Given the description of an element on the screen output the (x, y) to click on. 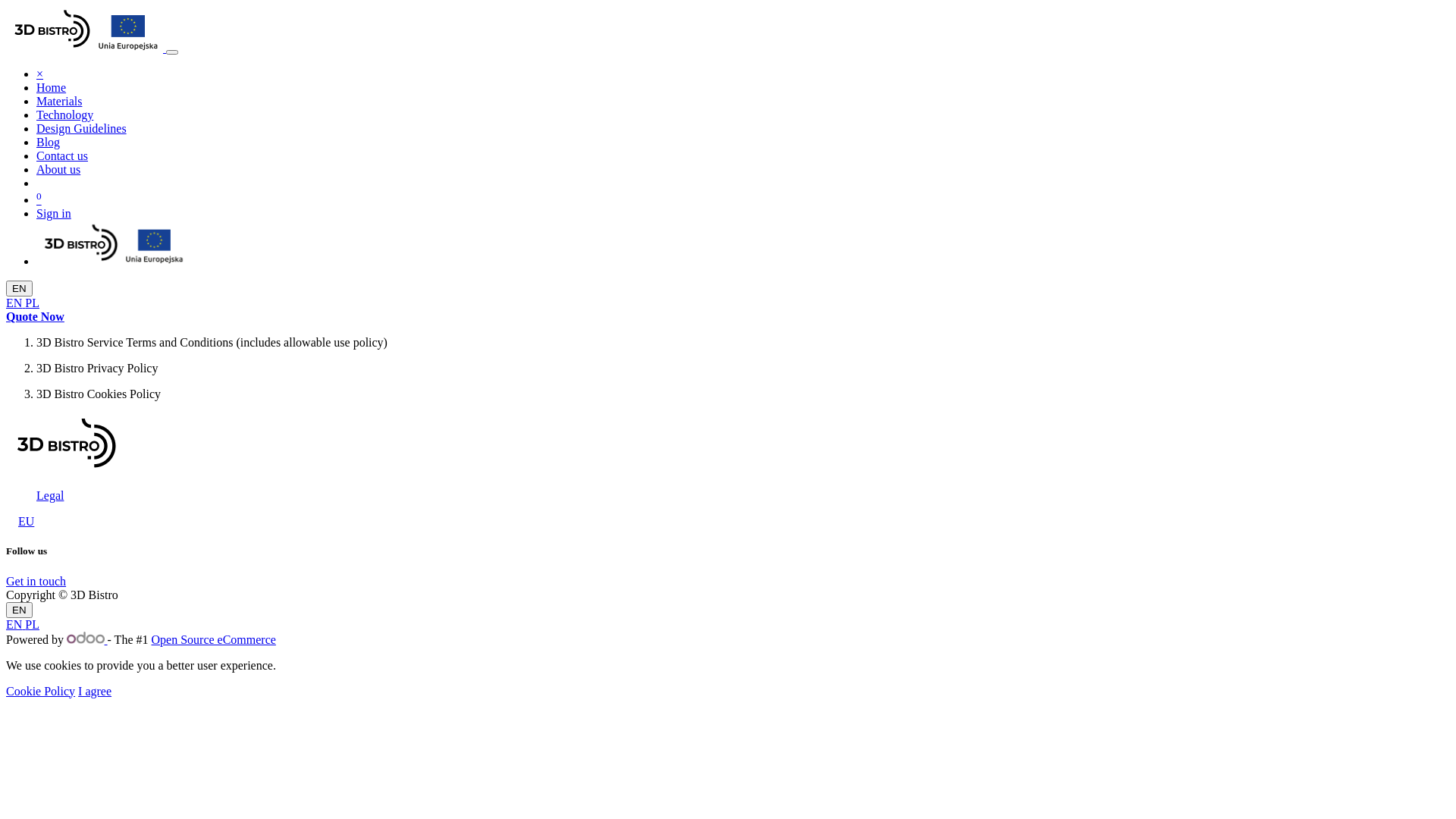
Get in touch Element type: text (35, 580)
Cookie Policy Element type: text (40, 690)
EN Element type: text (15, 624)
Technology Element type: text (64, 114)
PL Element type: text (32, 302)
Blog Element type: text (47, 141)
Open Source eCommerce Element type: text (213, 639)
Design Guidelines Element type: text (81, 128)
EU Element type: text (26, 520)
0 Element type: text (38, 199)
MyCompany Element type: hover (66, 443)
EN Element type: text (19, 288)
3D Bistro SLS/MJF PA12 PA11 TPU Element type: hover (84, 47)
Sign in Element type: text (53, 213)
Home Element type: text (50, 87)
Quote Now Element type: text (35, 316)
3D Bistro SLS/MJF PA12 PA11 TPU Element type: hover (112, 260)
I agree Element type: text (94, 690)
Contact us Element type: text (61, 155)
Materials Element type: text (58, 100)
EN Element type: text (19, 610)
Legal Element type: text (49, 495)
EN Element type: text (15, 302)
About us Element type: text (58, 169)
PL Element type: text (32, 624)
